Given the description of an element on the screen output the (x, y) to click on. 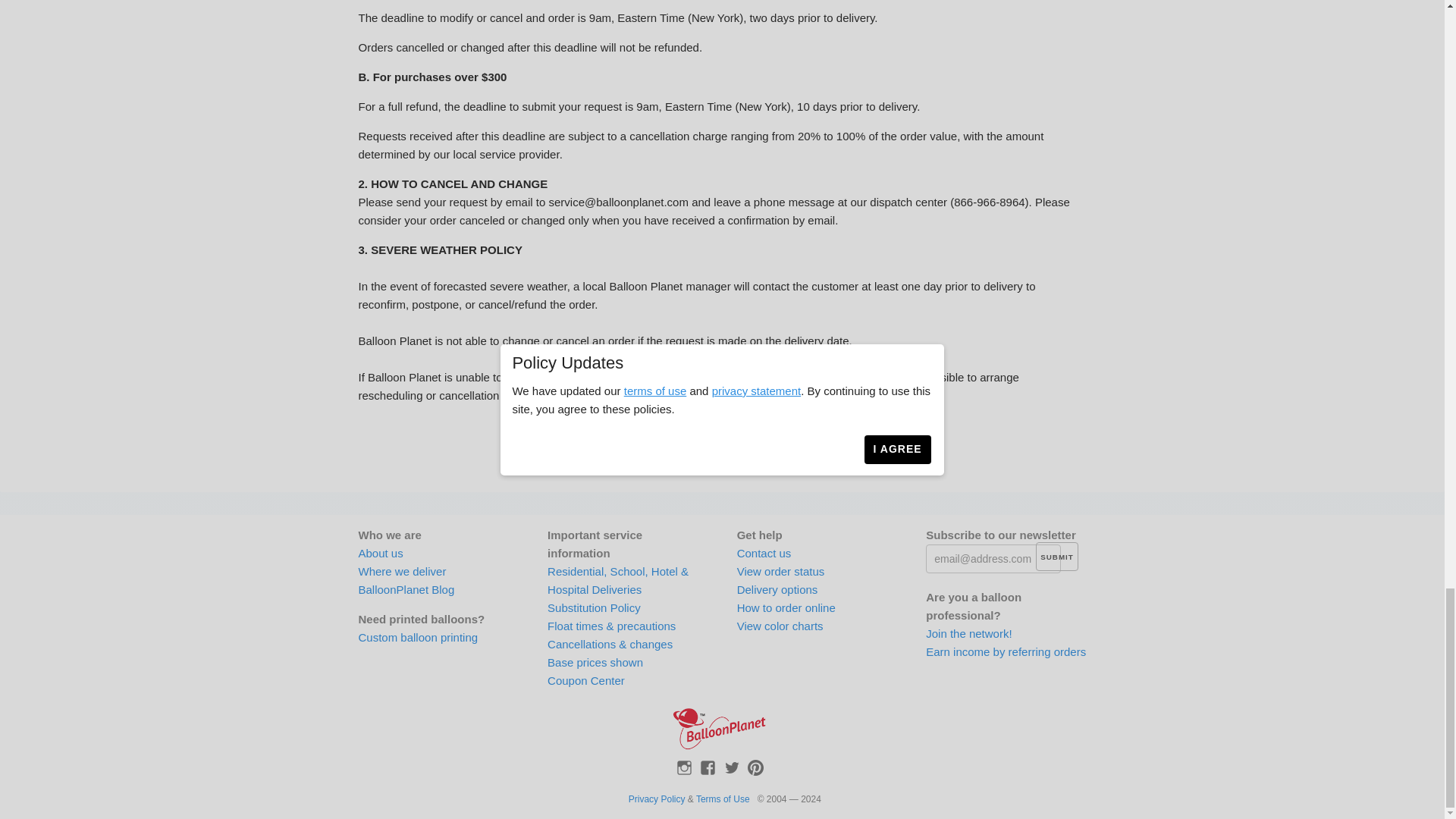
Submit (1056, 556)
